Given the description of an element on the screen output the (x, y) to click on. 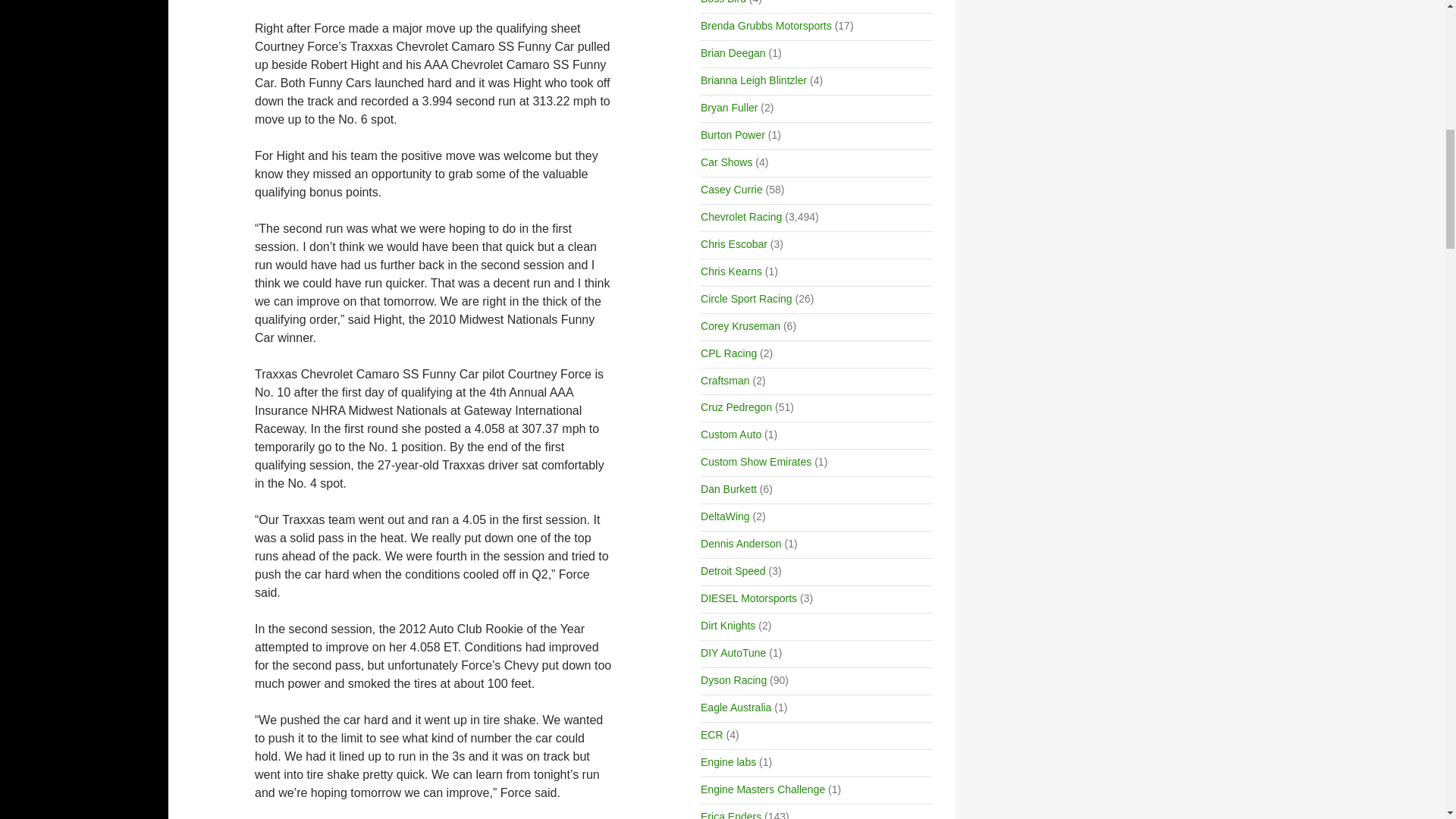
Chevrolet Racing (740, 216)
Brenda Grubbs Motorsports (765, 25)
Chris Escobar (733, 244)
Boss Bird (722, 2)
Casey Currie (731, 189)
Brian Deegan (732, 52)
Bryan Fuller (728, 107)
Brianna Leigh Blintzler (753, 80)
Car Shows (726, 162)
Burton Power (732, 134)
